Given the description of an element on the screen output the (x, y) to click on. 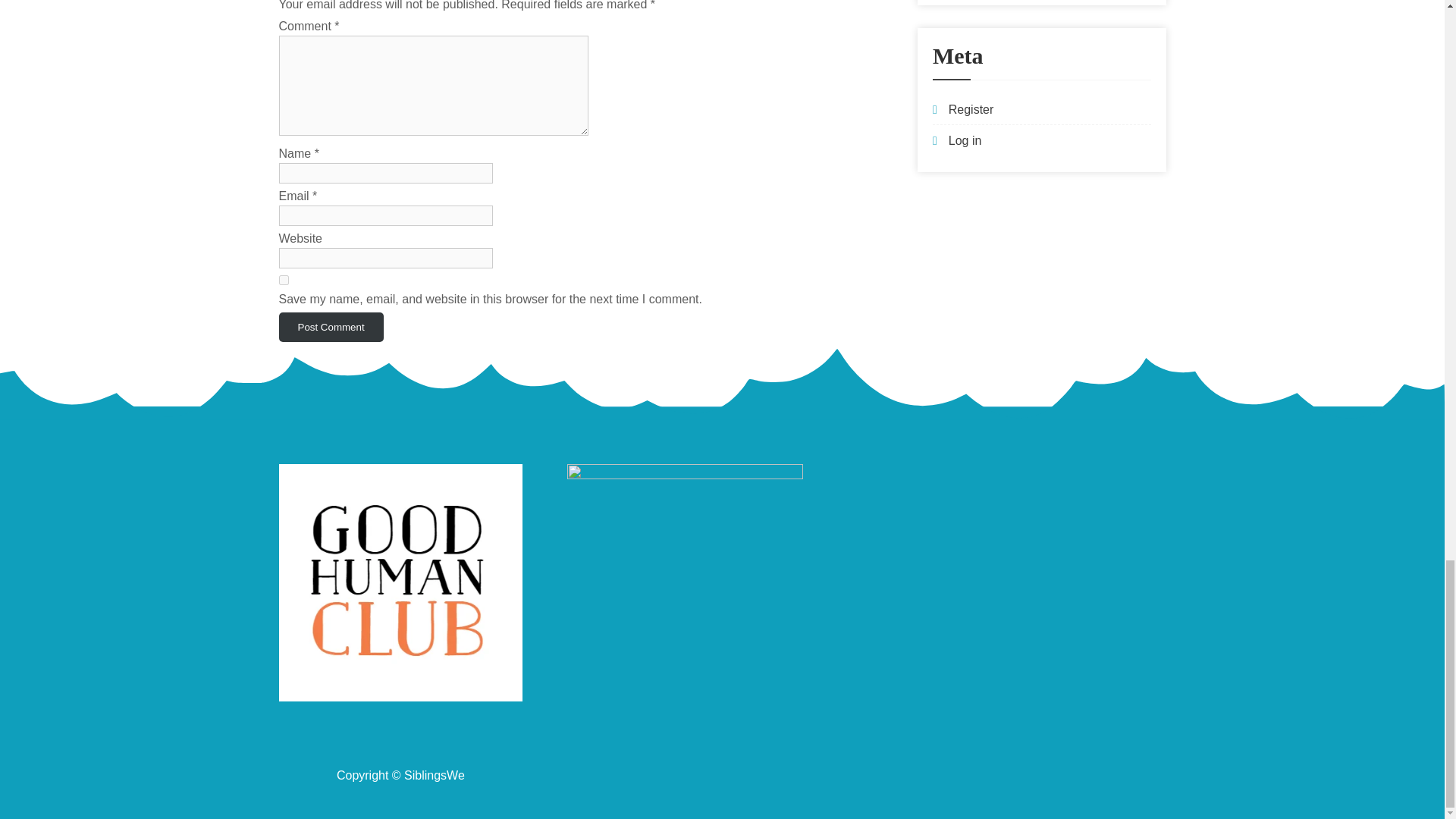
Post Comment (331, 327)
yes (283, 280)
Post Comment (331, 327)
